Given the description of an element on the screen output the (x, y) to click on. 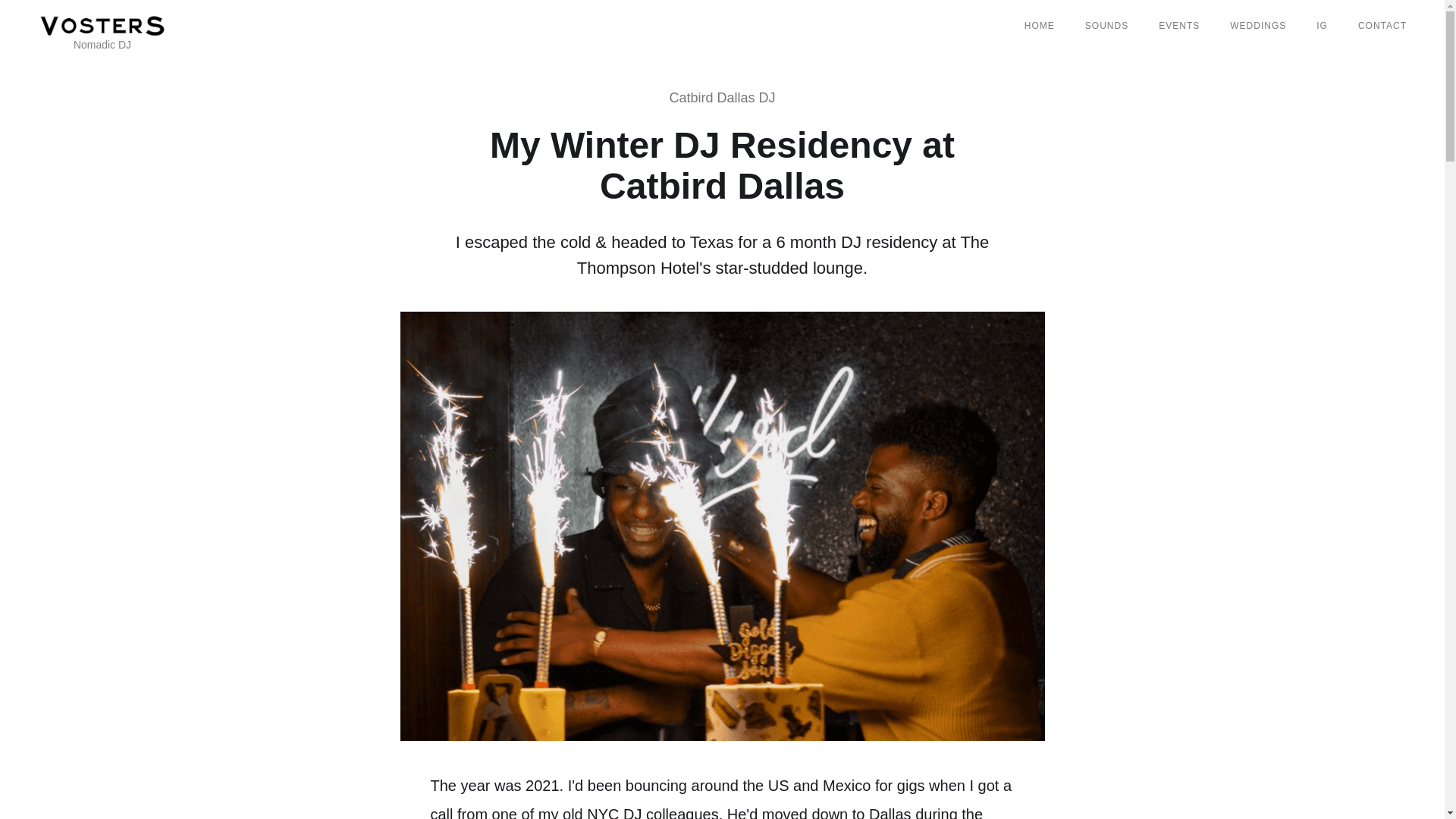
SOUNDS (1106, 25)
EVENTS (1178, 25)
WEDDINGS (1257, 25)
Nomadic DJ (102, 24)
IG (1321, 25)
HOME (1039, 25)
CONTACT (1382, 25)
